Given the description of an element on the screen output the (x, y) to click on. 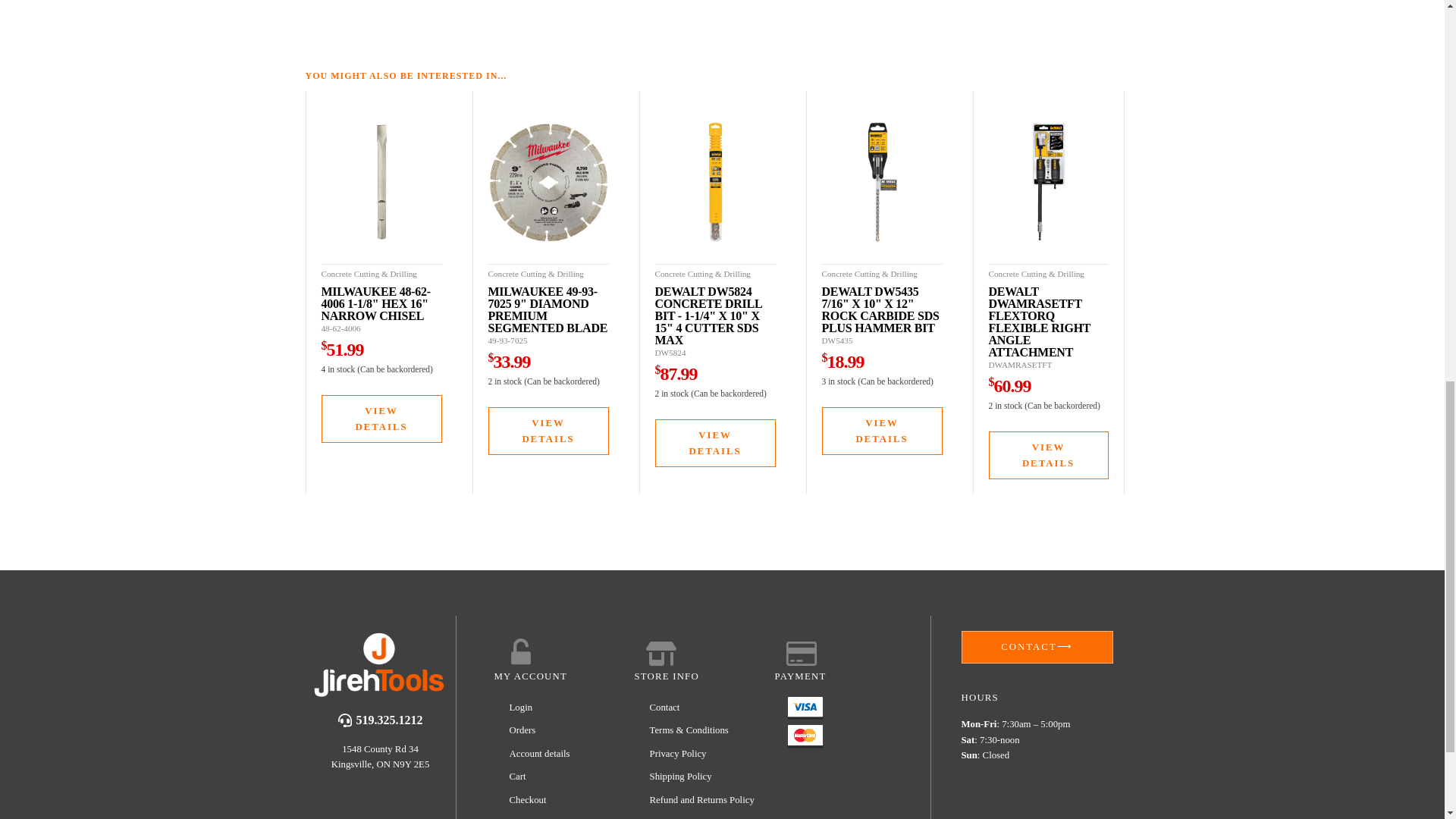
VIEW DETAILS (381, 418)
